Given the description of an element on the screen output the (x, y) to click on. 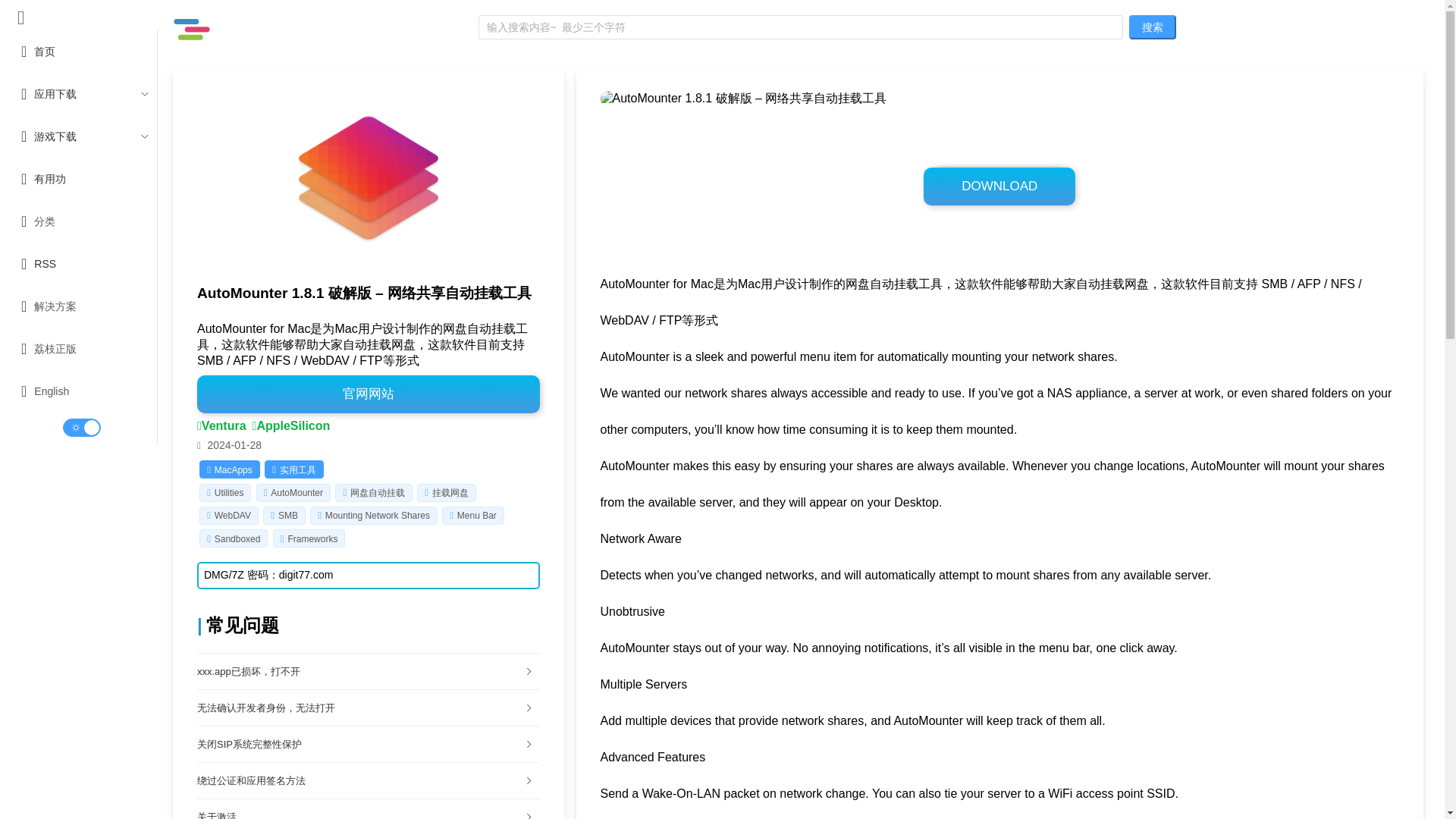
Sandboxed (237, 538)
Frameworks (311, 538)
Menu Bar (476, 515)
MacApps (228, 470)
SMB (288, 515)
WebDAV (232, 515)
AutoMounter (296, 492)
Mounting Network Shares (376, 515)
Utilities (229, 492)
